Given the description of an element on the screen output the (x, y) to click on. 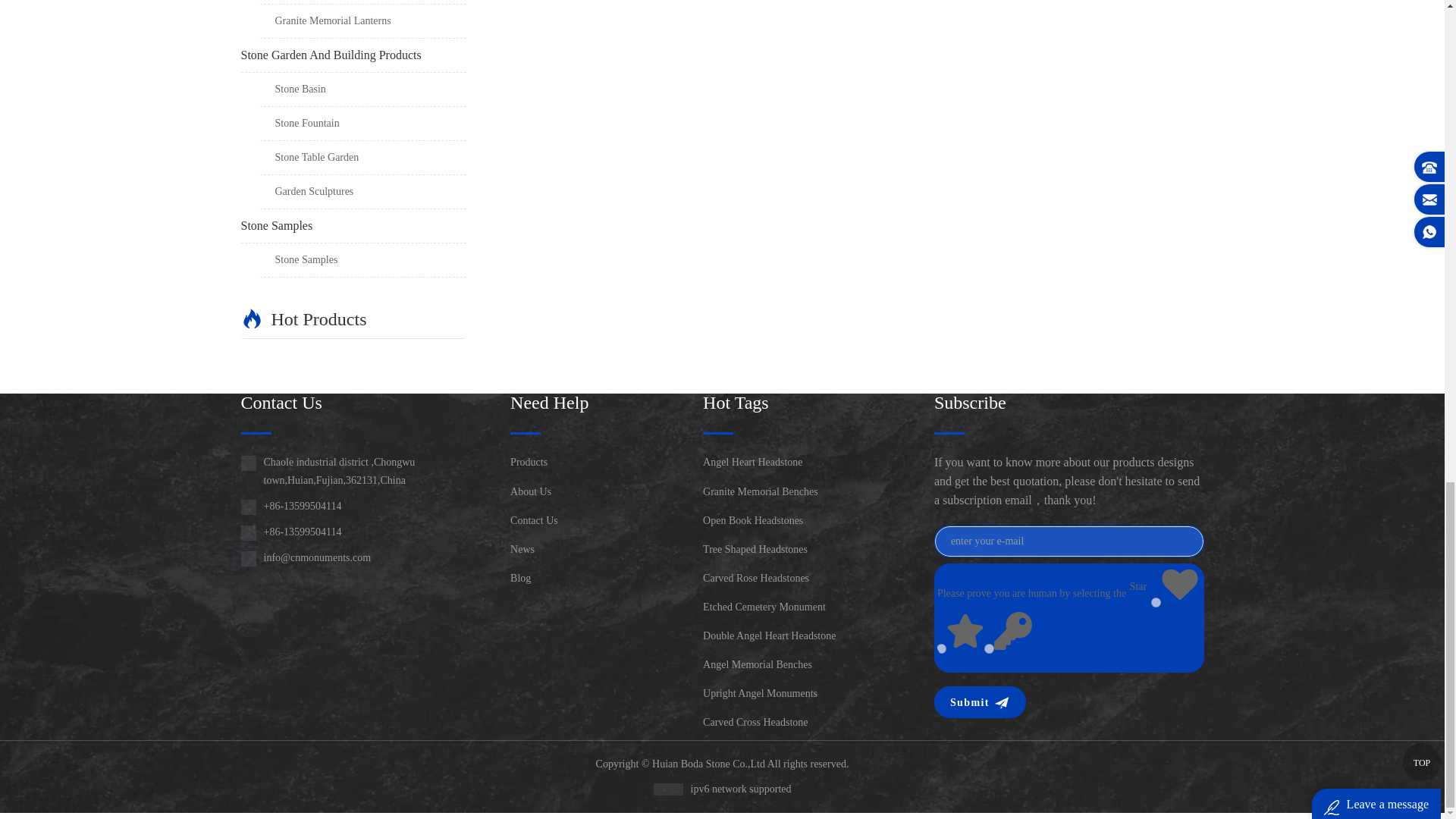
Submit (978, 702)
bot (1155, 602)
Submit (978, 702)
bot (989, 648)
